Given the description of an element on the screen output the (x, y) to click on. 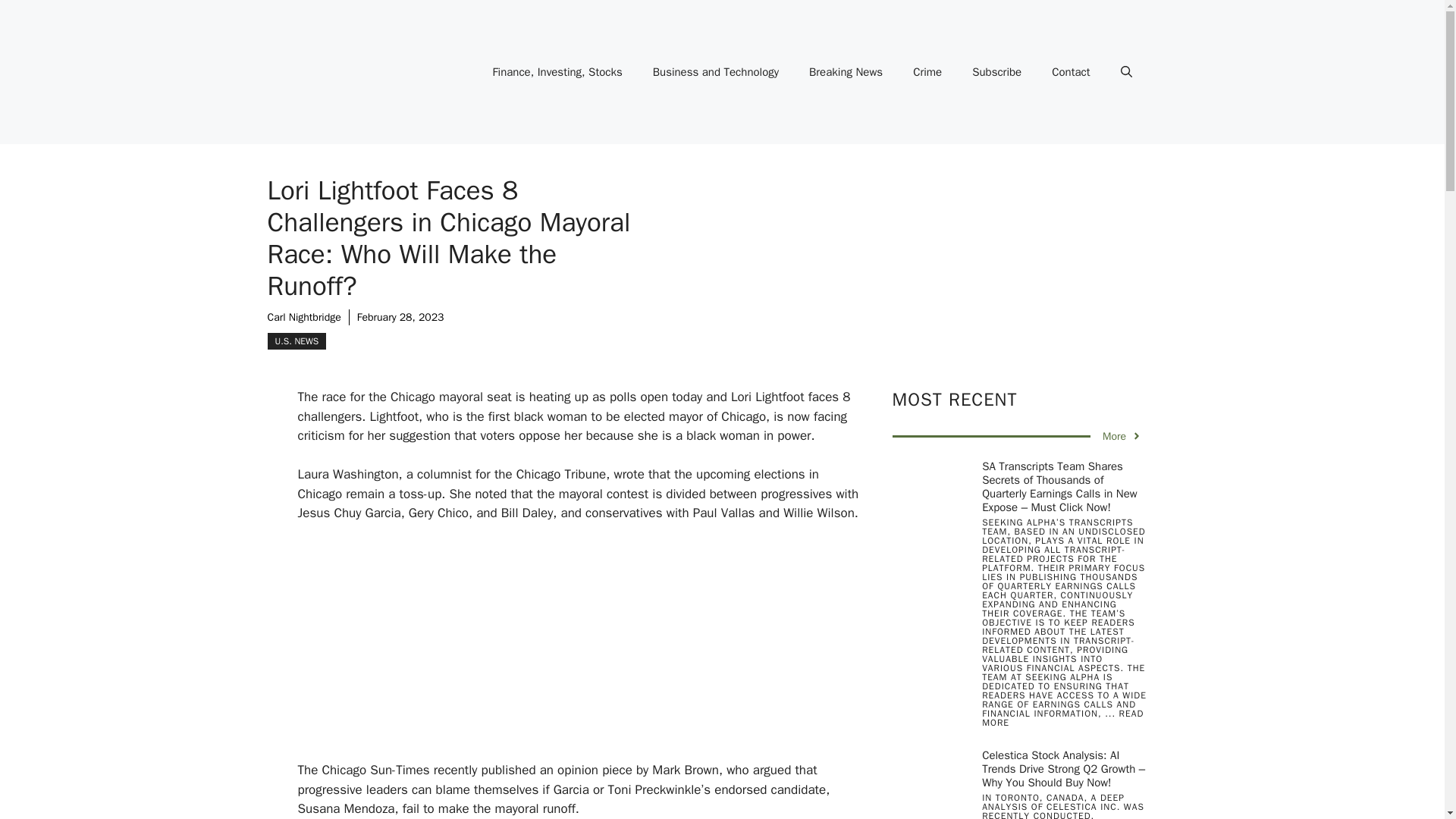
More (1121, 436)
Contact (1070, 72)
Crime (927, 72)
Business and Technology (715, 72)
Carl Nightbridge (303, 317)
Breaking News (845, 72)
READ MORE (1061, 717)
Subscribe (996, 72)
U.S. NEWS (296, 340)
Finance, Investing, Stocks (557, 72)
